Given the description of an element on the screen output the (x, y) to click on. 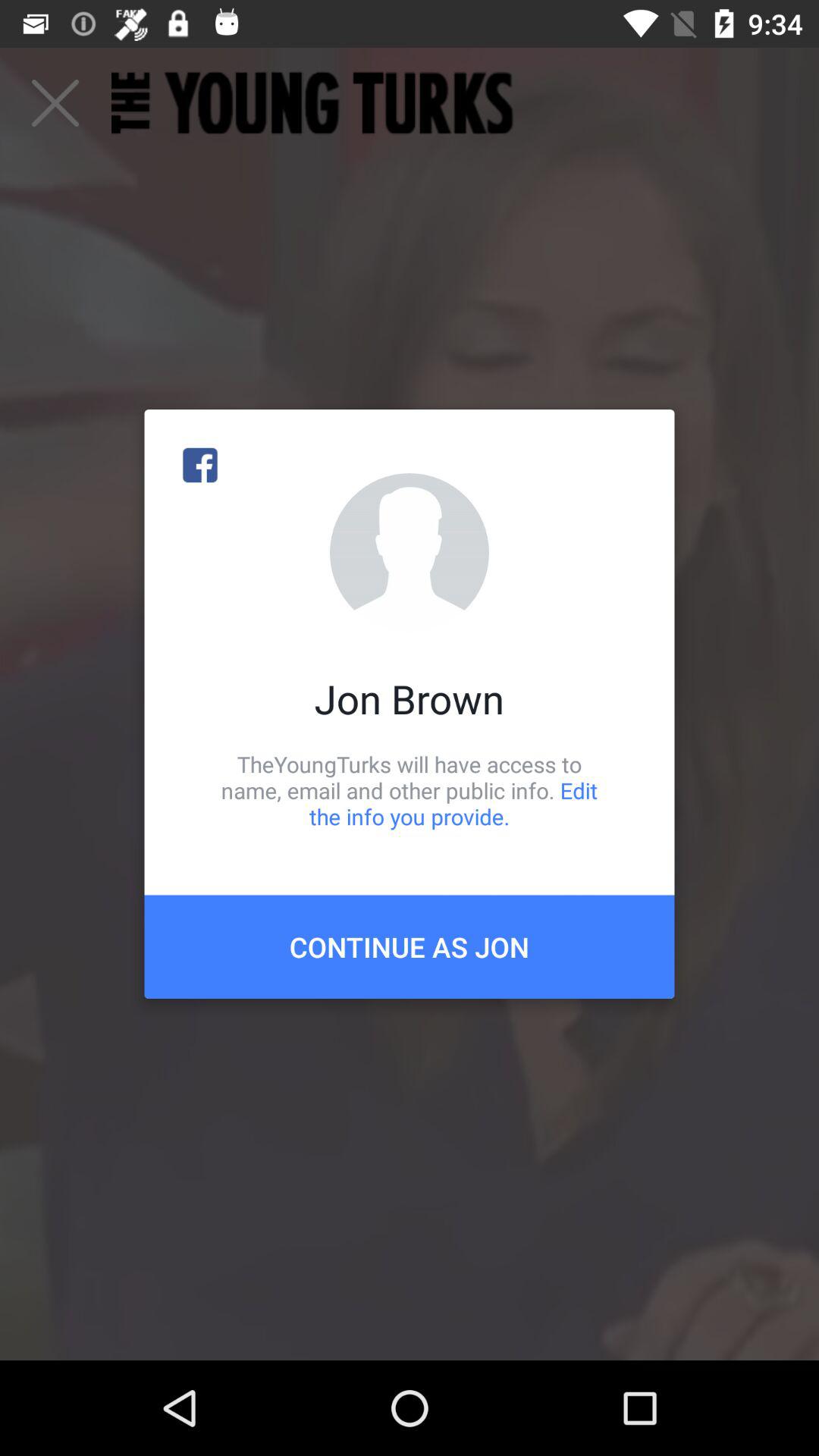
flip until continue as jon item (409, 946)
